Given the description of an element on the screen output the (x, y) to click on. 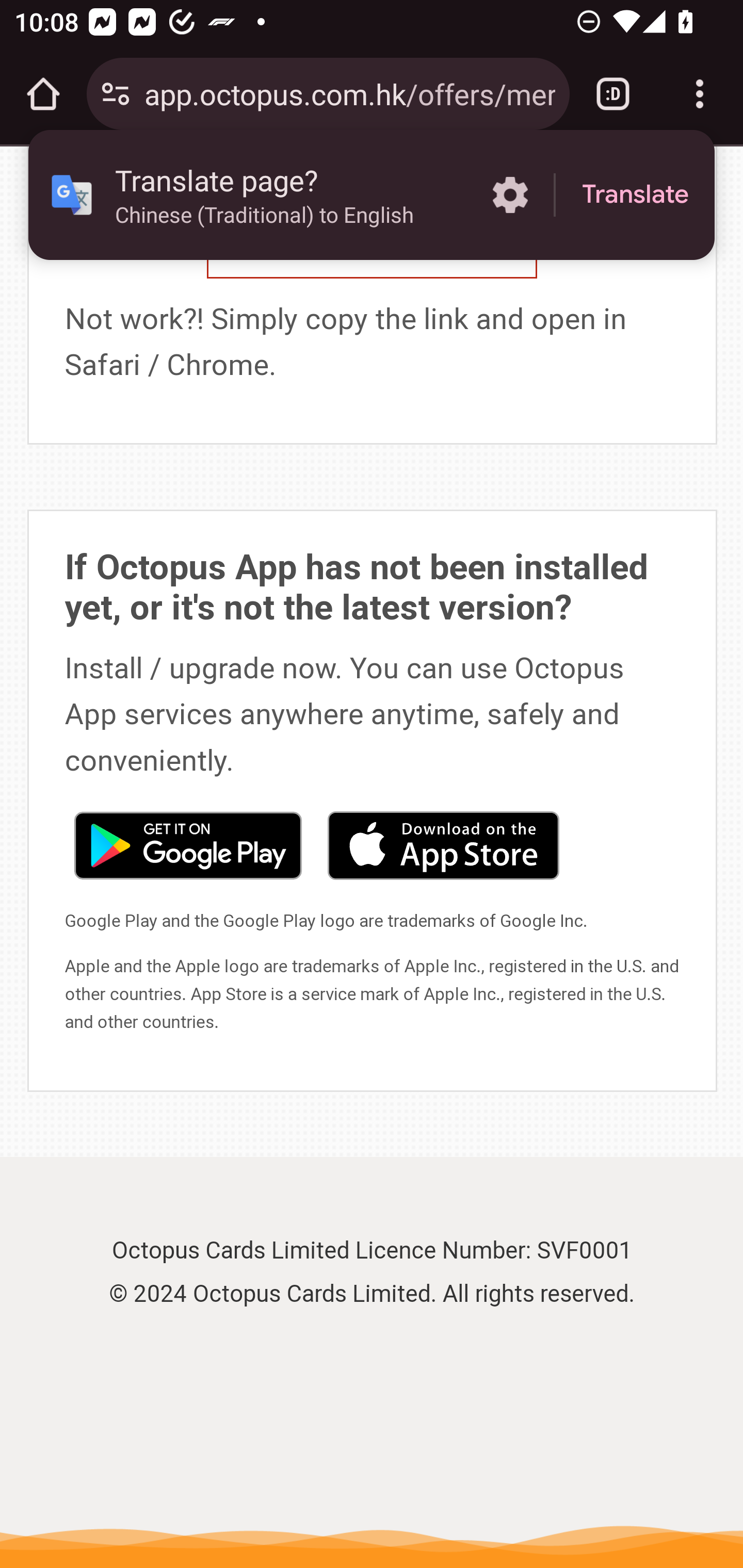
Open the home page (43, 93)
Connection is secure (115, 93)
Switch or close tabs (612, 93)
Customize and control Google Chrome (699, 93)
Translate (634, 195)
More options in the Translate page? (509, 195)
Get it on Google Play (187, 843)
Download on the App Store (443, 843)
